Given the description of an element on the screen output the (x, y) to click on. 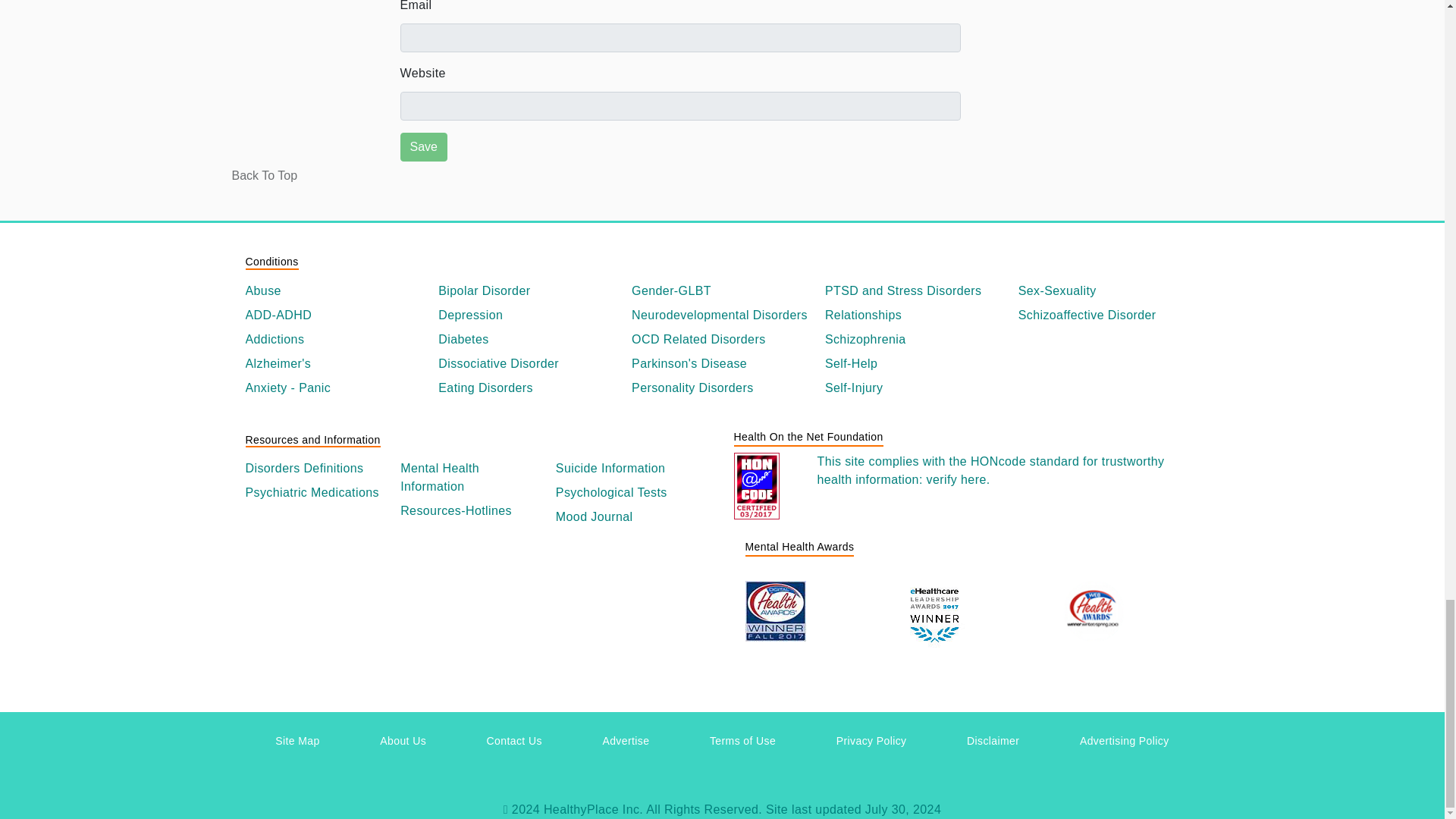
Parkinson's Disease Information Articles (721, 363)
